Given the description of an element on the screen output the (x, y) to click on. 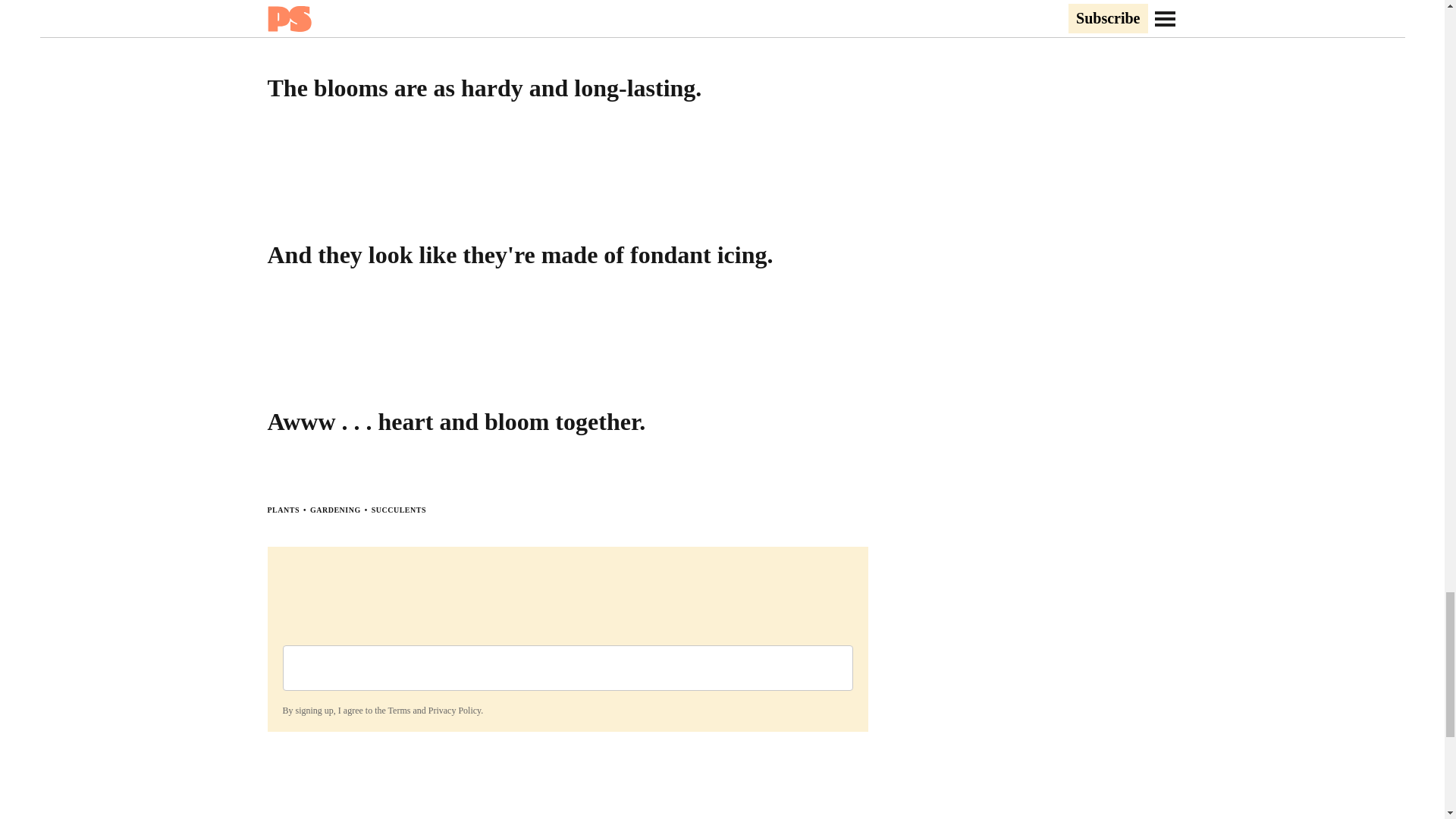
SUCCULENTS (398, 510)
Terms (399, 710)
GARDENING (335, 510)
PLANTS (282, 510)
Privacy Policy. (455, 710)
